Given the description of an element on the screen output the (x, y) to click on. 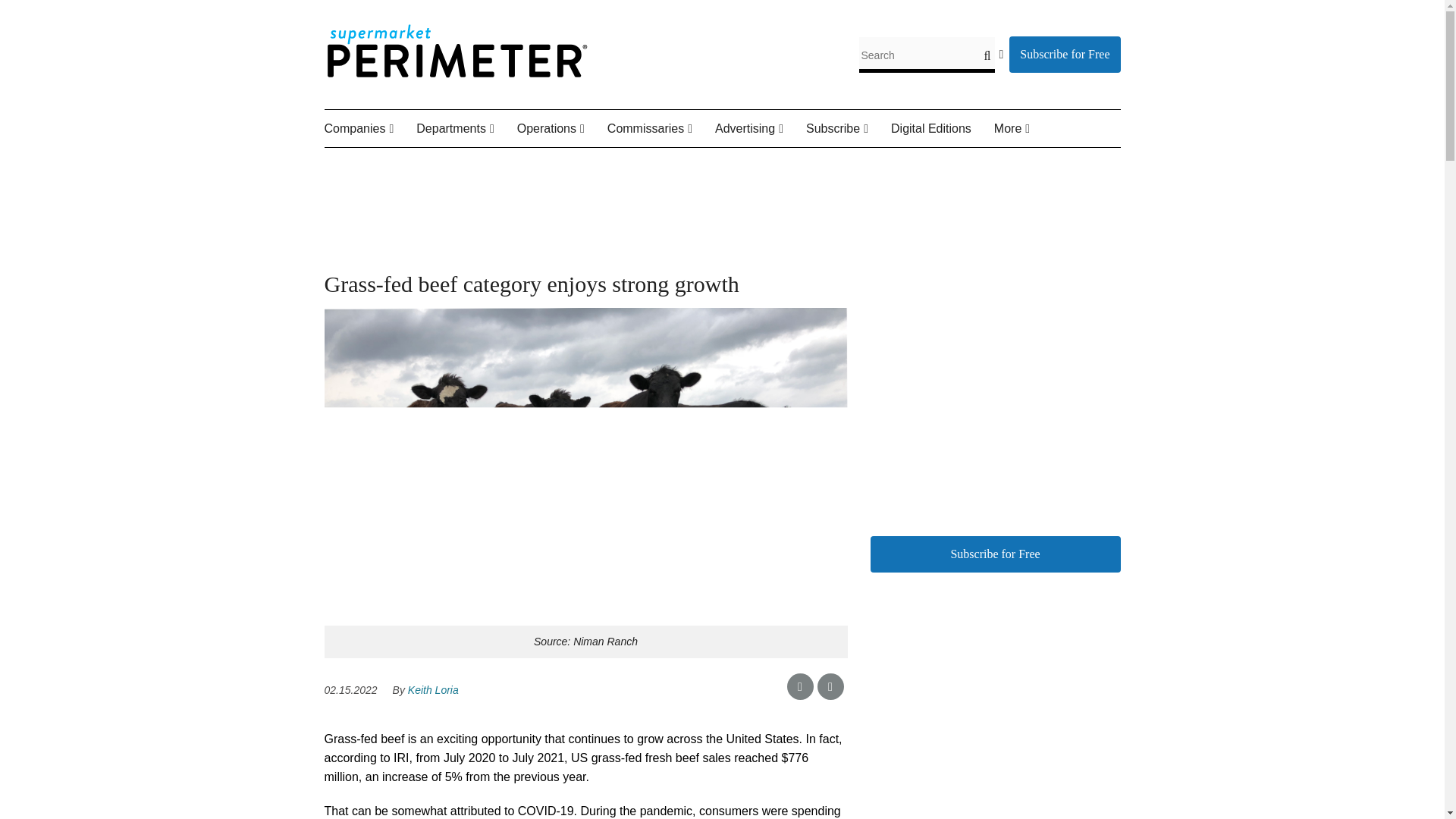
Companies (370, 129)
Packaging (619, 164)
Subscribe for Free (1064, 54)
E-Commerce (592, 164)
FSMA 204 (616, 164)
Distribution (697, 164)
Departments (466, 129)
Food Safety (612, 164)
Operations (561, 129)
Bakery (491, 164)
